Given the description of an element on the screen output the (x, y) to click on. 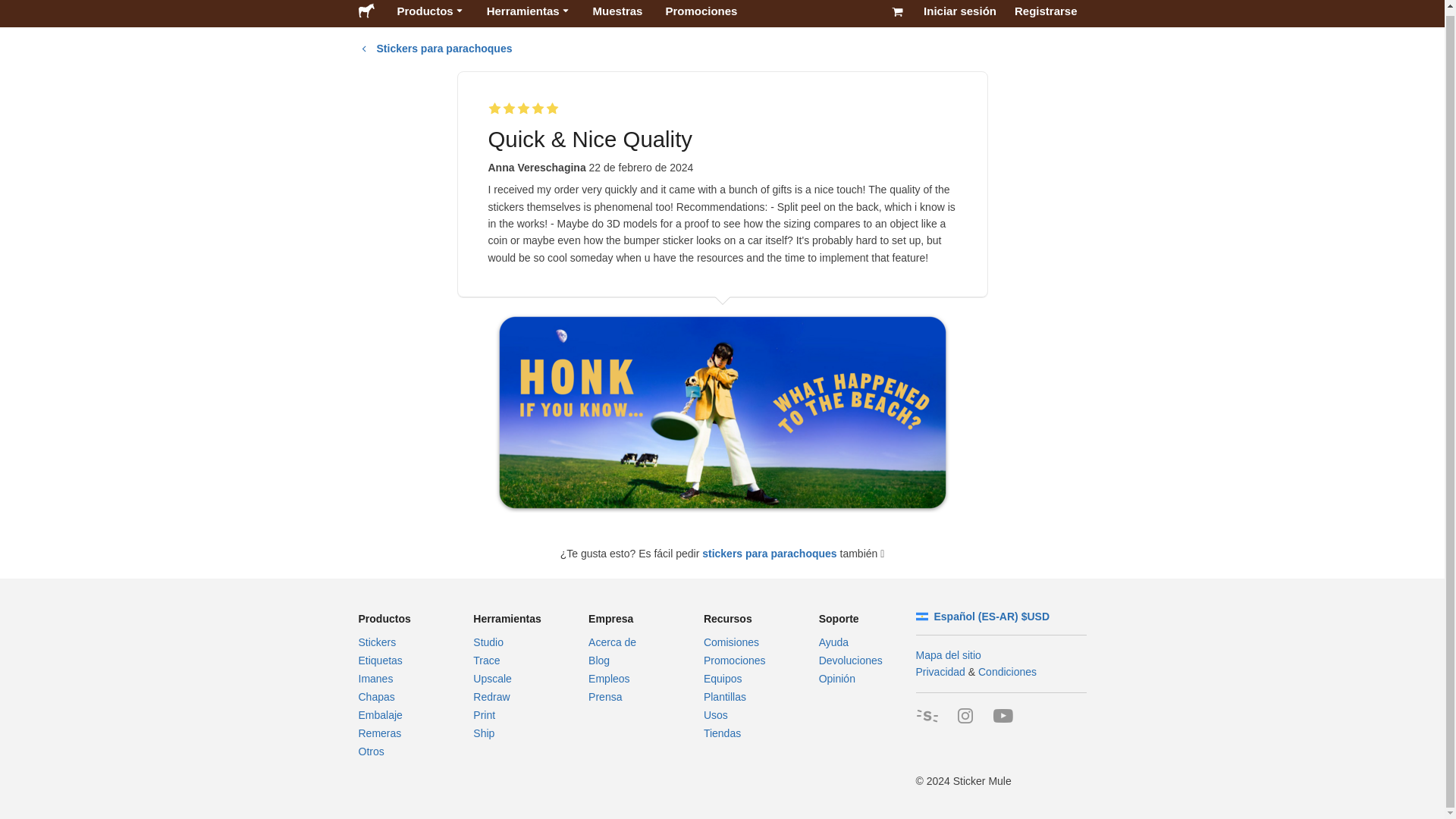
Muestras (616, 13)
Herramientas (528, 13)
Productos (429, 13)
Promociones (700, 13)
Carrito (897, 13)
